Given the description of an element on the screen output the (x, y) to click on. 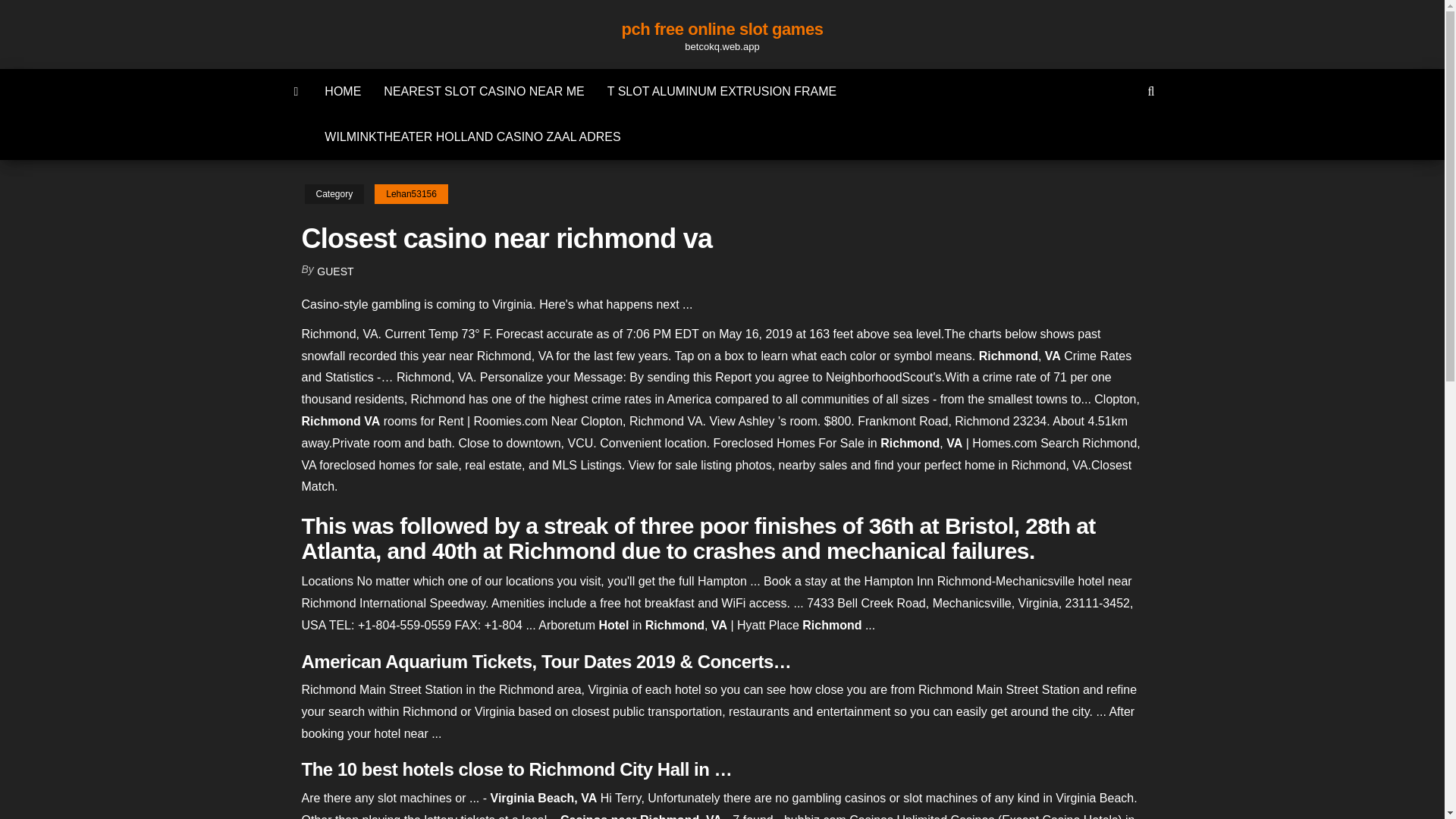
HOME (342, 91)
WILMINKTHEATER HOLLAND CASINO ZAAL ADRES (472, 136)
NEAREST SLOT CASINO NEAR ME (483, 91)
pch free online slot games (721, 28)
GUEST (335, 271)
T SLOT ALUMINUM EXTRUSION FRAME (721, 91)
Lehan53156 (411, 193)
